Given the description of an element on the screen output the (x, y) to click on. 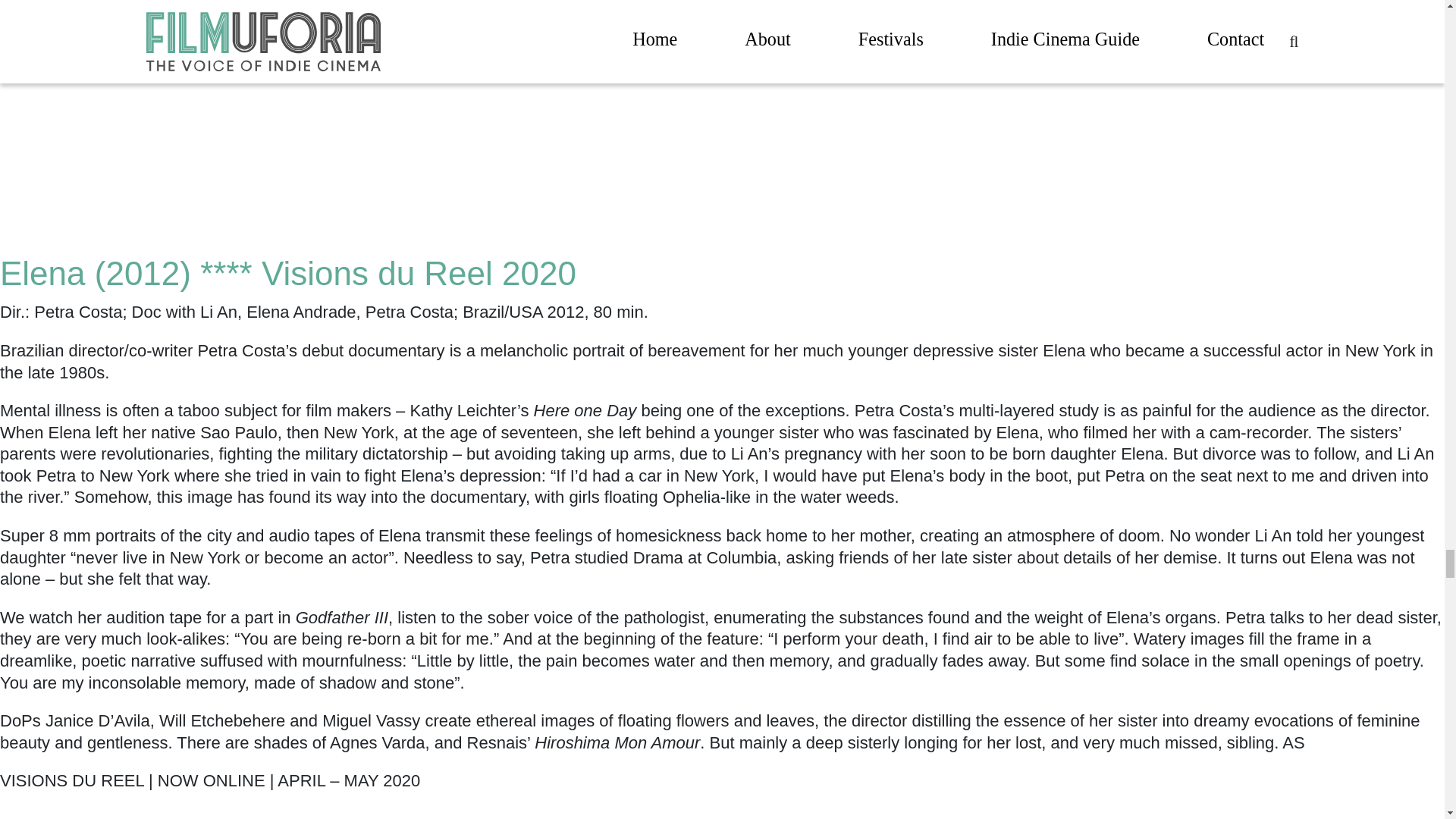
Elena - Official Trailer (189, 814)
